Given the description of an element on the screen output the (x, y) to click on. 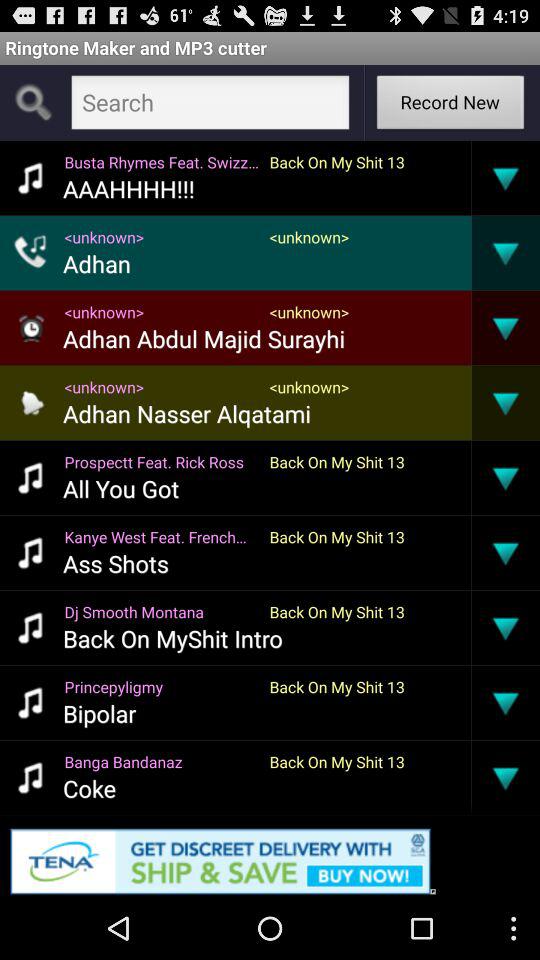
open icon below the <unknown> (204, 338)
